Given the description of an element on the screen output the (x, y) to click on. 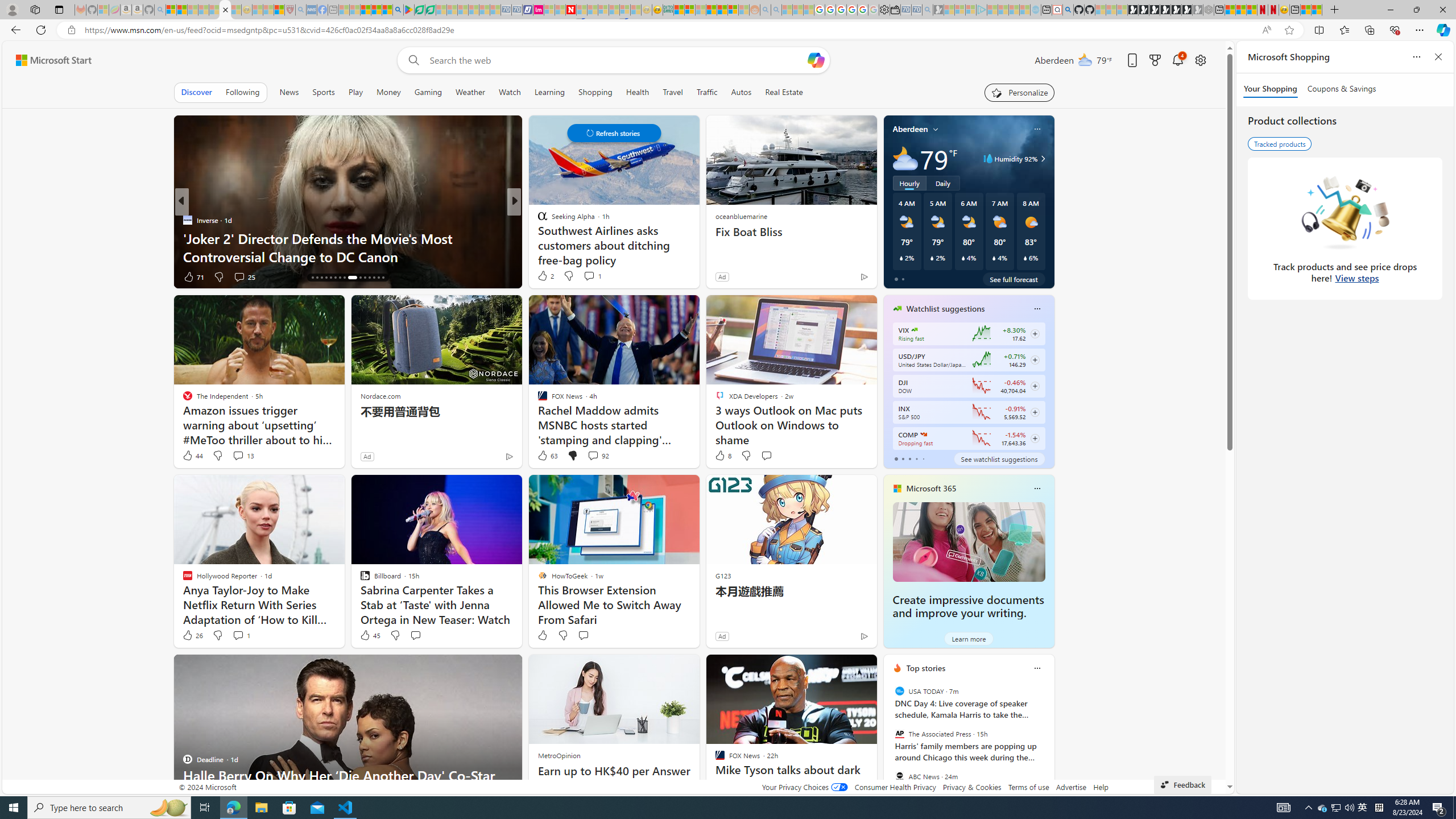
AutomationID: tab-16 (312, 277)
AutomationID: tab-25 (356, 277)
Watch (509, 92)
Microsoft account | Privacy - Sleeping (970, 9)
View comments 7 Comment (592, 276)
44 Like (192, 455)
Health (637, 92)
Latest Politics News & Archive | Newsweek.com (570, 9)
Microsoft-Report a Concern to Bing - Sleeping (103, 9)
